Given the description of an element on the screen output the (x, y) to click on. 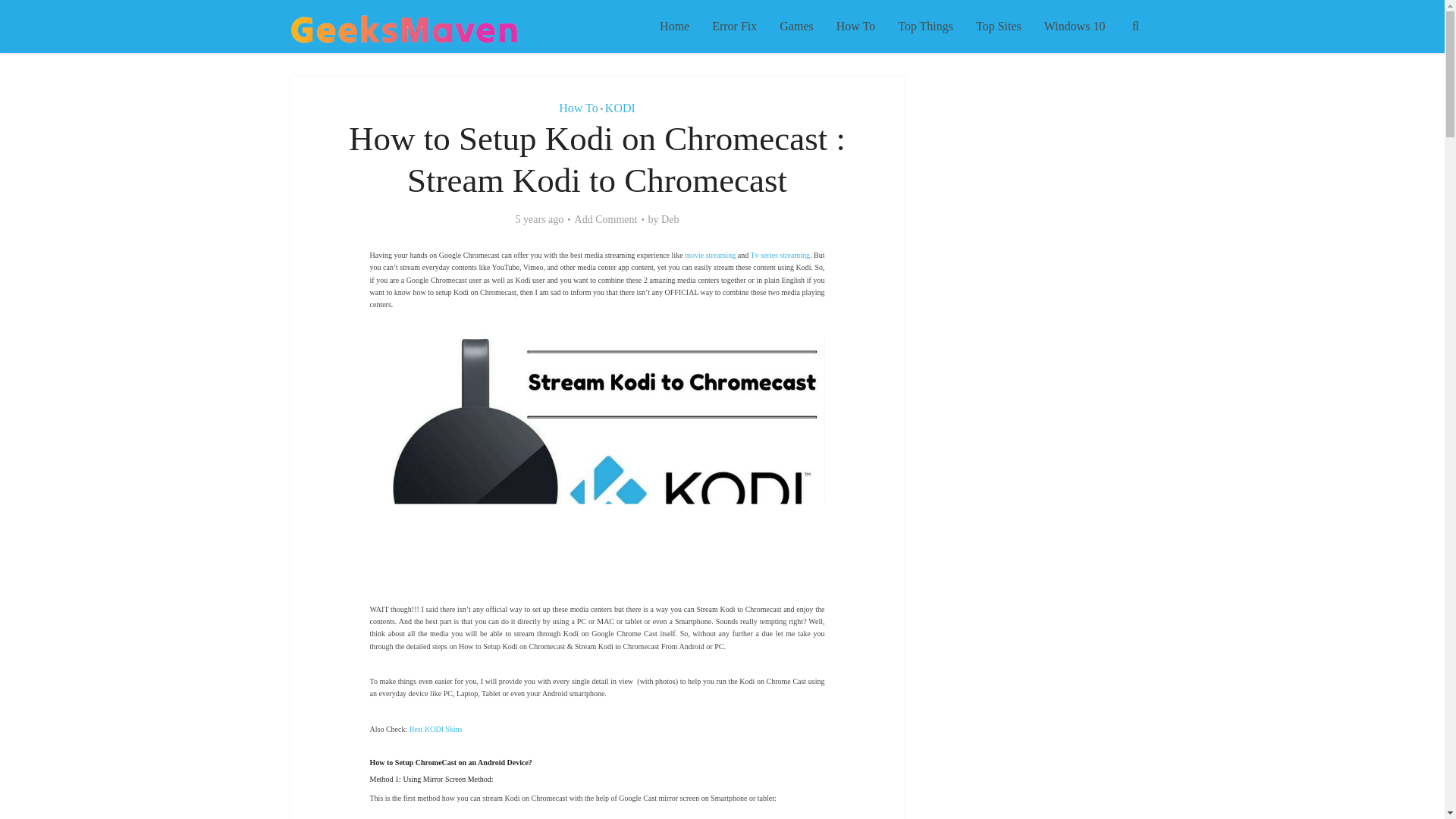
movie streaming (709, 254)
Top Things (924, 26)
Home (673, 26)
Add Comment (606, 219)
Best KODI Skins (436, 728)
Deb (669, 219)
Error Fix (734, 26)
How To (577, 107)
Tv series streaming (780, 254)
How To (855, 26)
Top Sites (997, 26)
Windows 10 (1074, 26)
KODI (619, 107)
Games (796, 26)
